Given the description of an element on the screen output the (x, y) to click on. 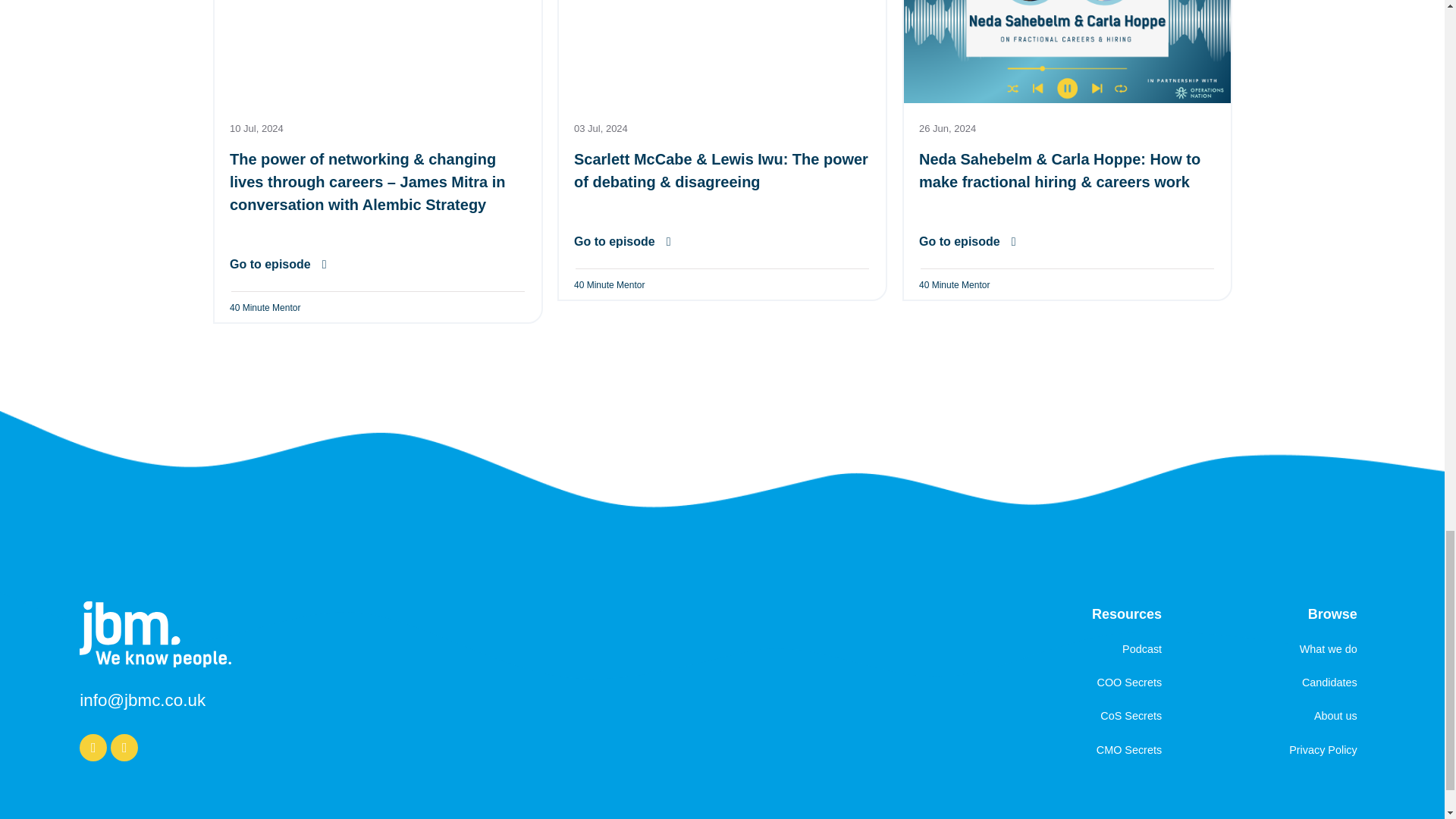
Go to episode (277, 264)
Go to episode (622, 241)
40 Minute Mentor (609, 284)
Go to episode (967, 241)
40 Minute Mentor (954, 284)
40 Minute Mentor (263, 307)
